Given the description of an element on the screen output the (x, y) to click on. 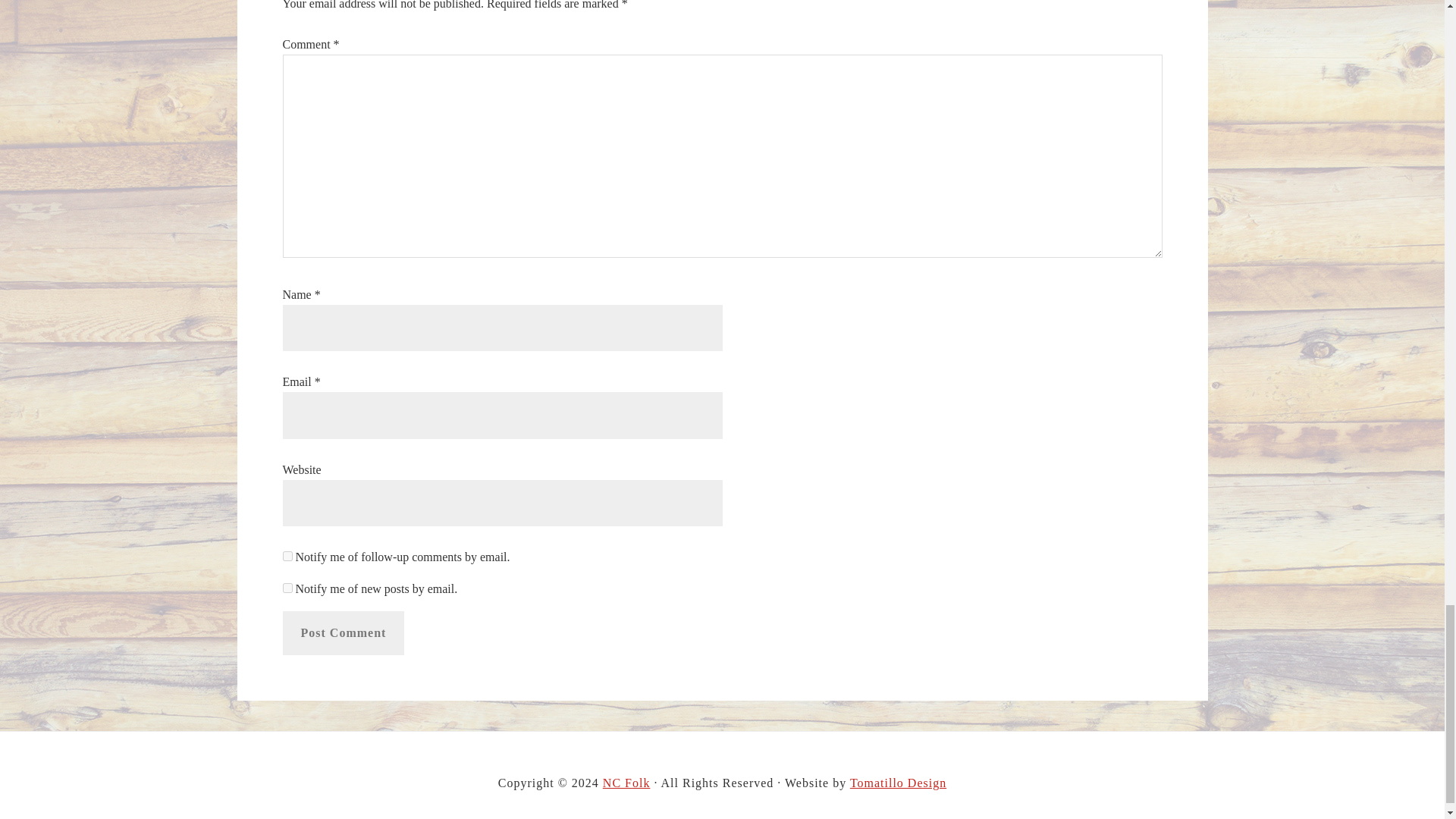
subscribe (287, 556)
Post Comment (343, 632)
Beautiful, Affordable Websites for Nonprofits (898, 782)
subscribe (287, 587)
